Given the description of an element on the screen output the (x, y) to click on. 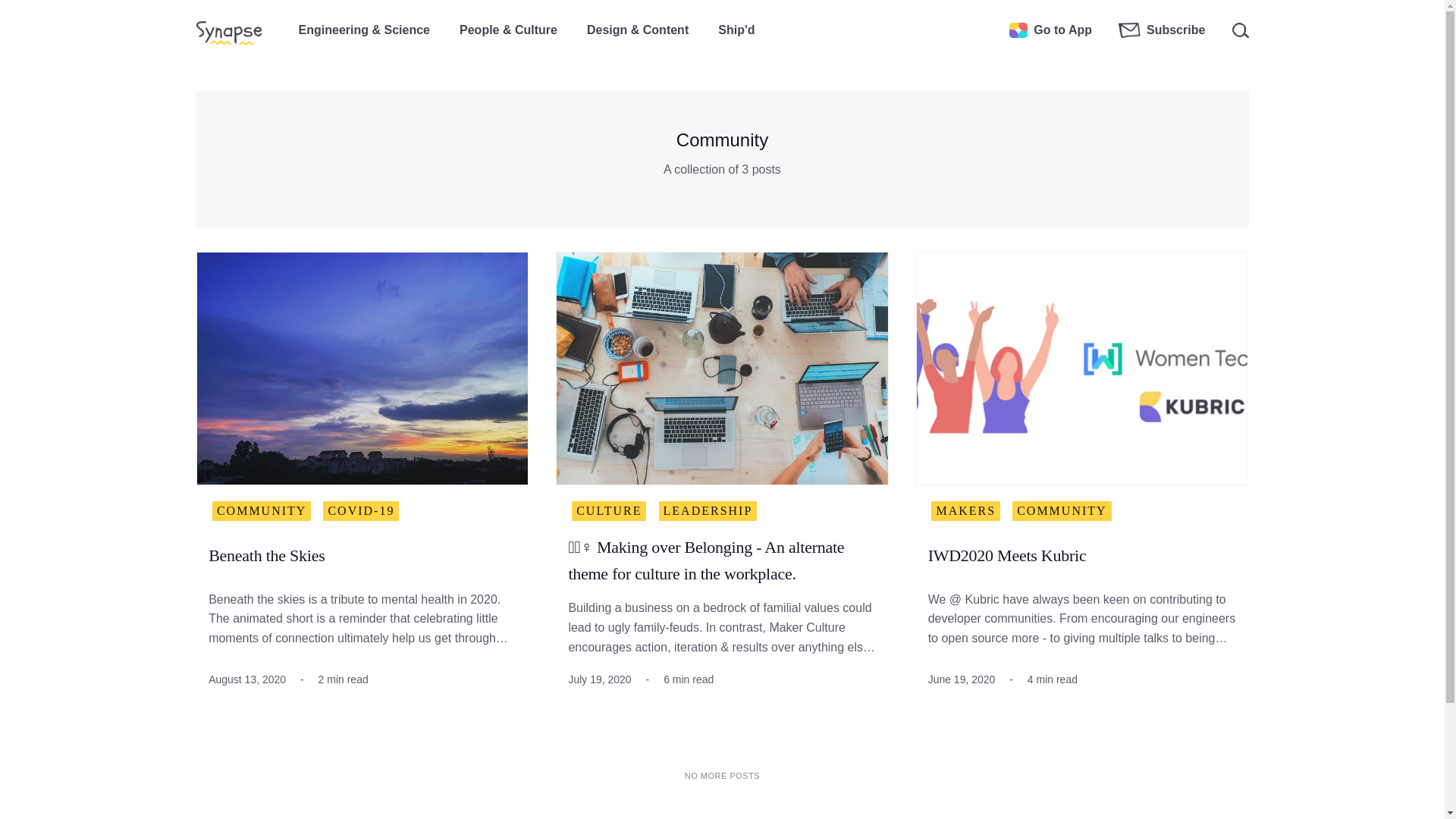
IWD2020 Meets Kubric (1007, 556)
Go to App (1050, 29)
Beneath the Skies (266, 556)
COMMUNITY (1060, 510)
Subscribe (1161, 29)
LEADERSHIP (708, 510)
COVID-19 (360, 510)
COMMUNITY (261, 510)
Ship'd (735, 25)
MAKERS (965, 510)
